Given the description of an element on the screen output the (x, y) to click on. 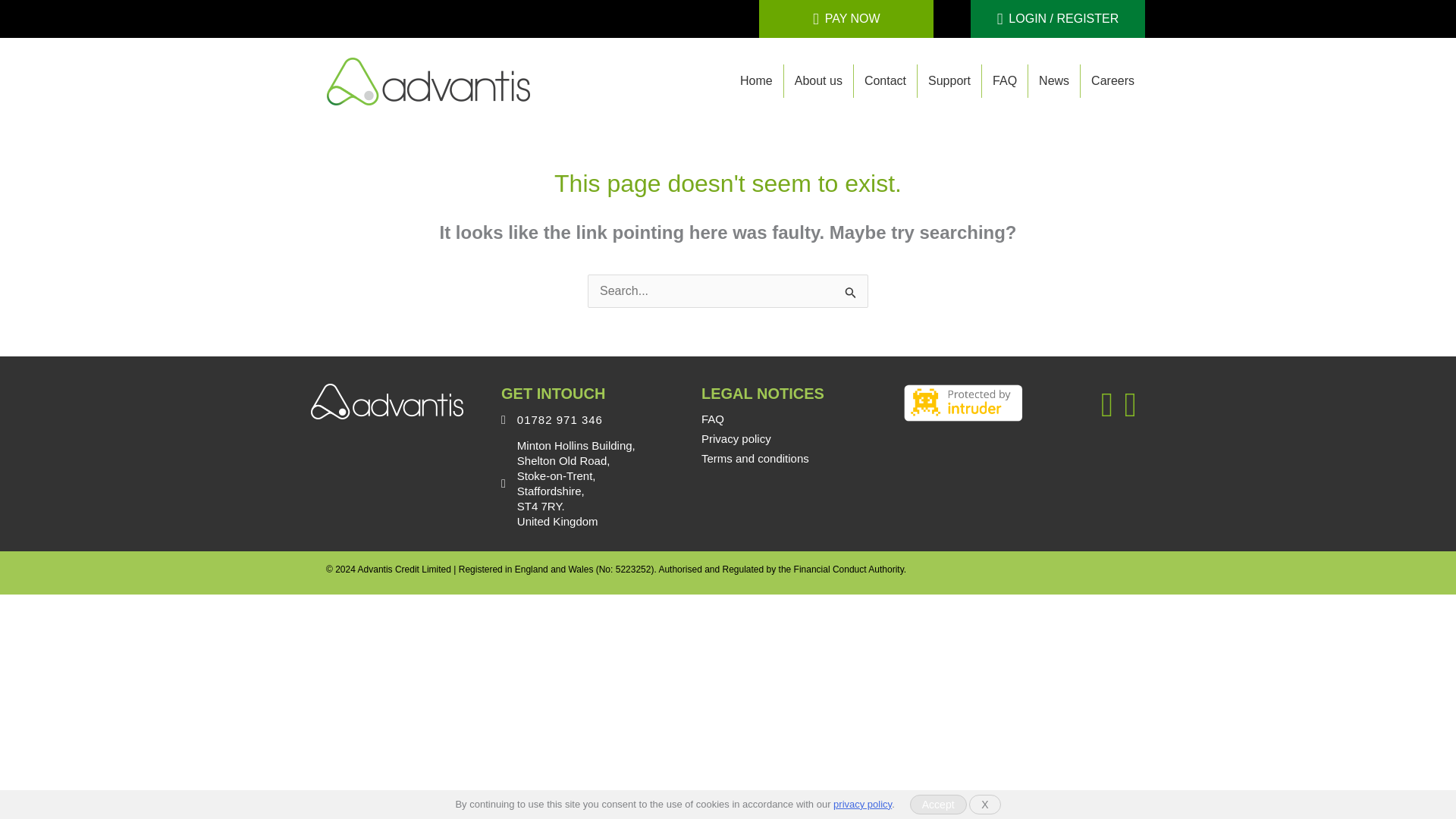
News (1053, 80)
Click Here (845, 18)
Advantis Logo White (387, 401)
Careers (1112, 80)
Advantis Logo (428, 80)
PAY NOW (845, 18)
Support (949, 80)
01782 971 346 (559, 419)
About us (818, 80)
Click Here (1057, 18)
FAQ (712, 418)
An Effortless Vulnerability Scanner (963, 401)
Privacy policy (736, 438)
Contact (885, 80)
Home (756, 80)
